Given the description of an element on the screen output the (x, y) to click on. 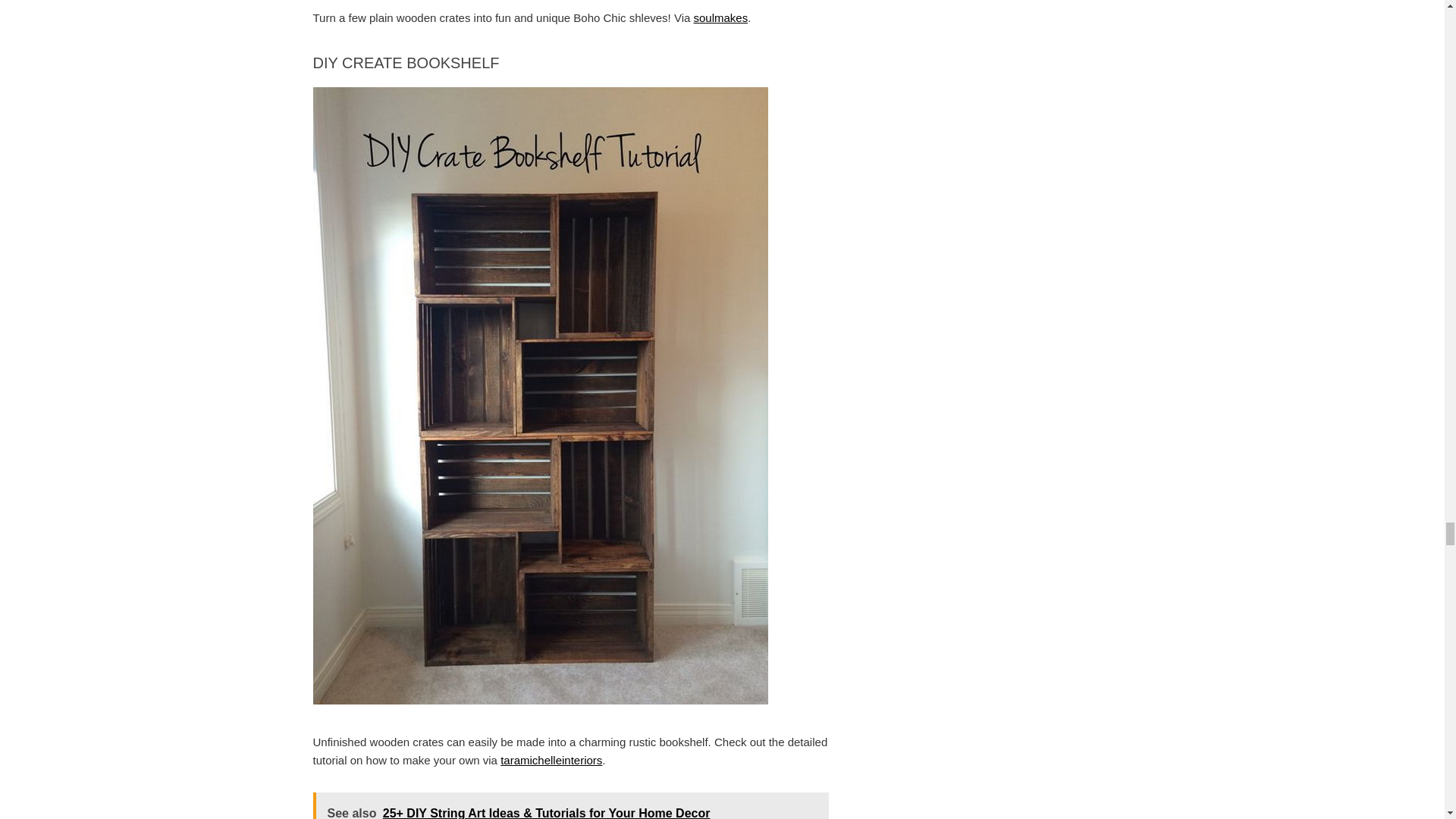
soulmakes (720, 17)
taramichelleinteriors (551, 759)
